Given the description of an element on the screen output the (x, y) to click on. 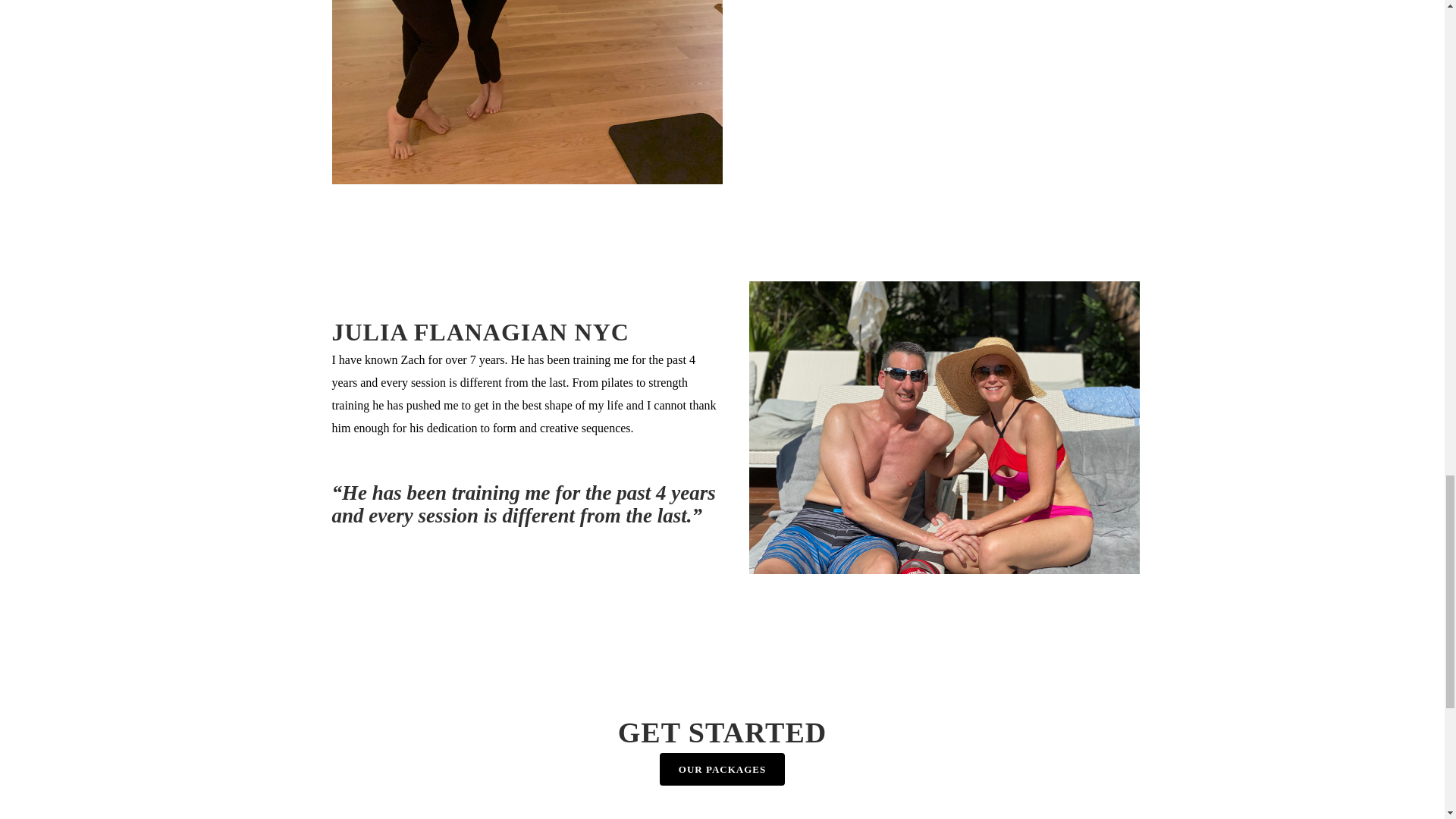
danielle (526, 92)
Julia (944, 427)
OUR PACKAGES (721, 768)
